Given the description of an element on the screen output the (x, y) to click on. 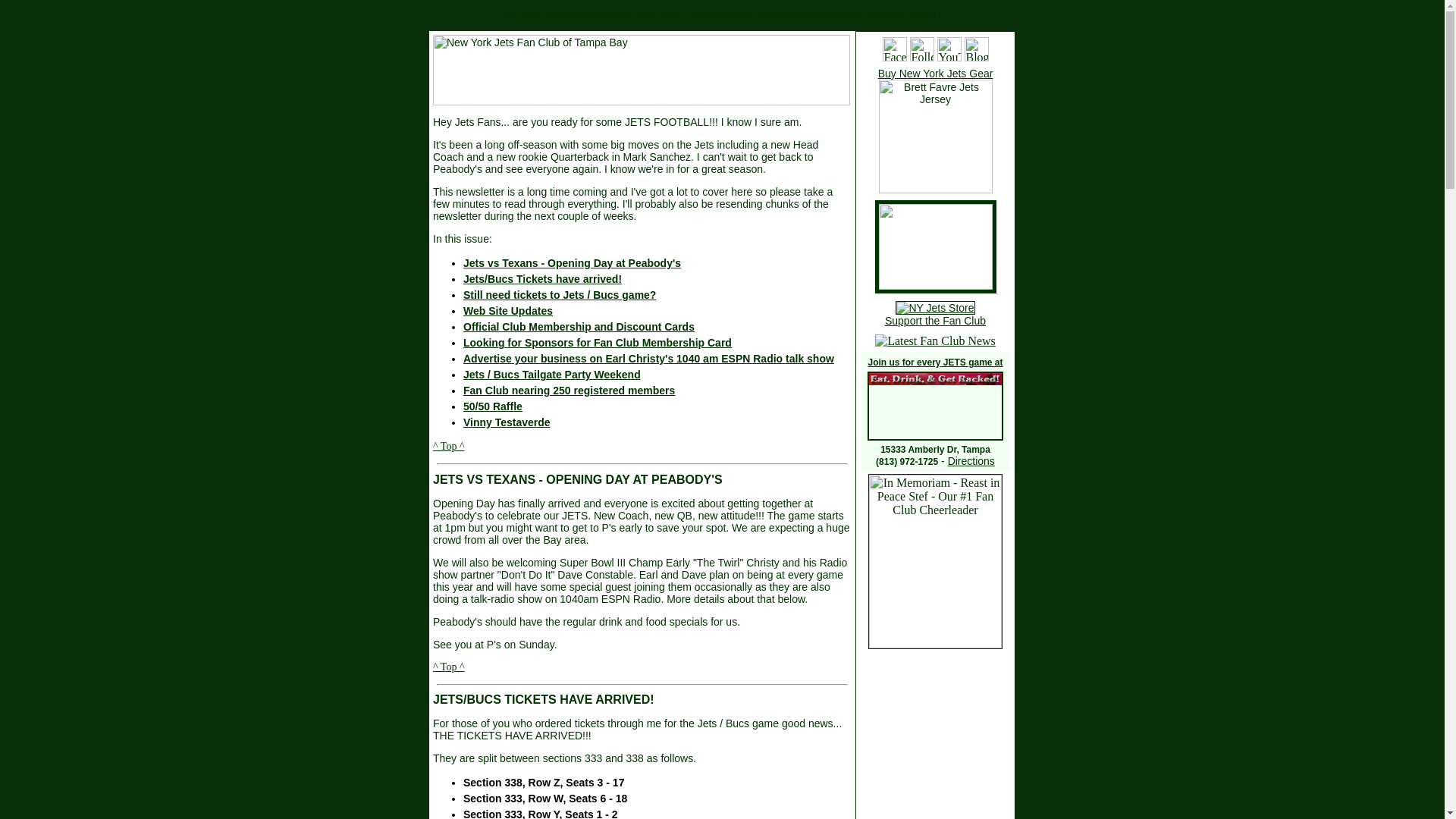
Fan Club nearing 250 registered members (569, 390)
Official Club Membership and Discount Cards (578, 326)
Web Site Updates (508, 310)
Vinny Testaverde (506, 422)
Jets vs Texans - Opening Day at Peabody's (572, 263)
Looking for Sponsors for Fan Club Membership Card (597, 342)
